Given the description of an element on the screen output the (x, y) to click on. 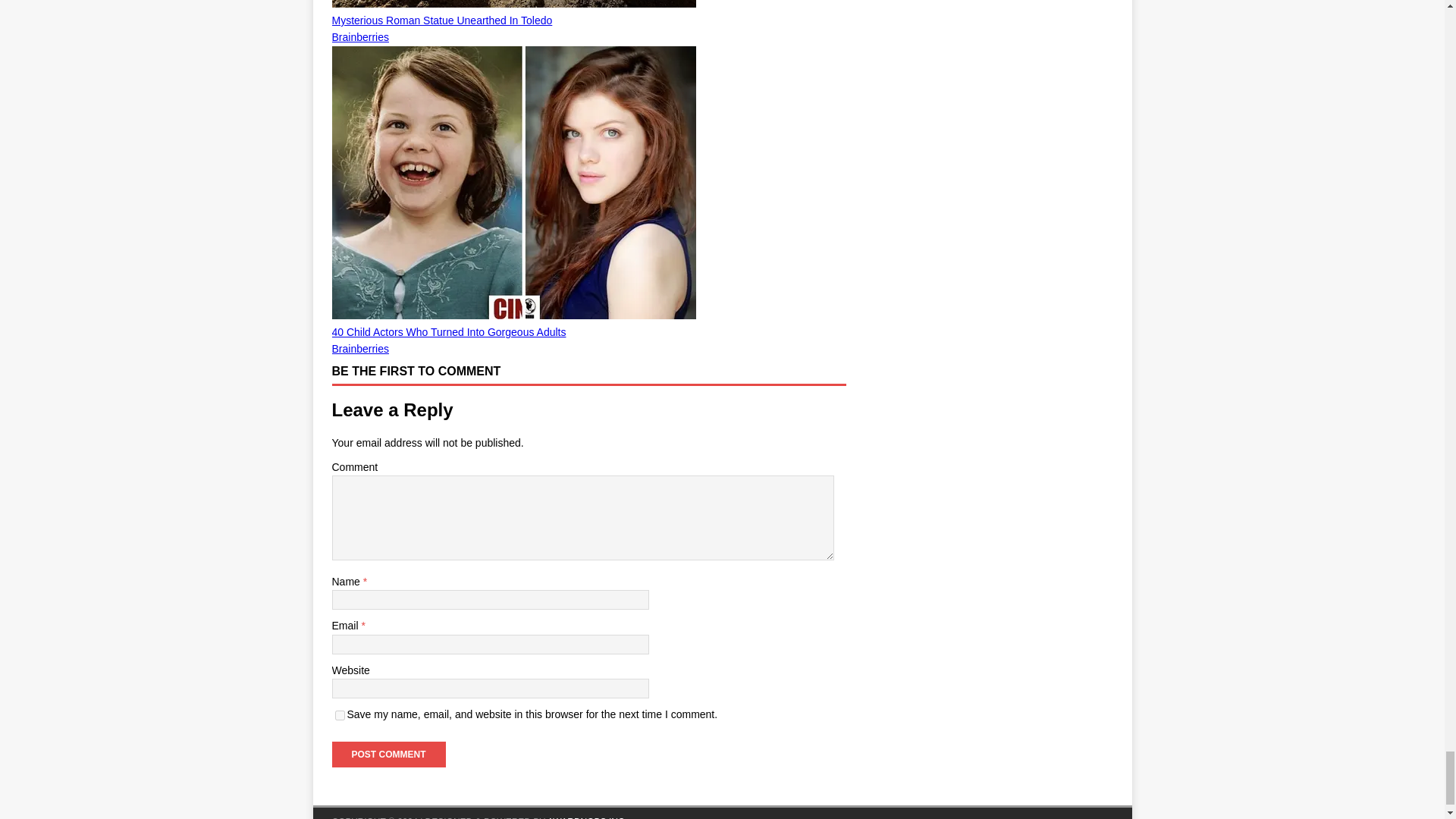
Post Comment (388, 754)
Post Comment (388, 754)
yes (339, 715)
